Given the description of an element on the screen output the (x, y) to click on. 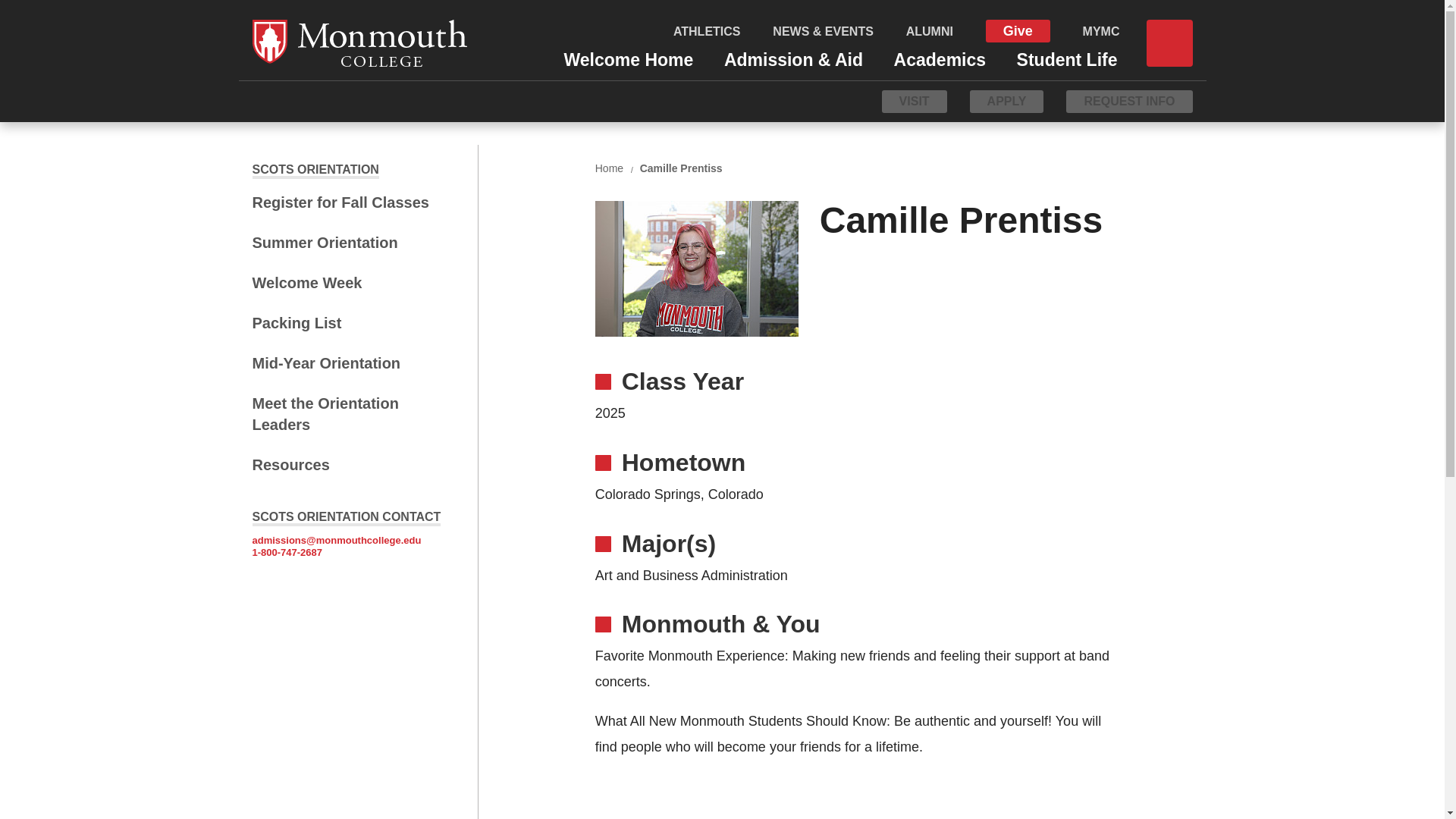
Meet the Orientation Leaders (346, 413)
VISIT (914, 101)
Mid-Year Orientation (346, 362)
Welcome Home (628, 56)
Give (1017, 30)
ALUMNI (929, 31)
Packing List (346, 322)
SCOTS ORIENTATION (314, 169)
MYMC (1101, 31)
Welcome Week (346, 282)
